Given the description of an element on the screen output the (x, y) to click on. 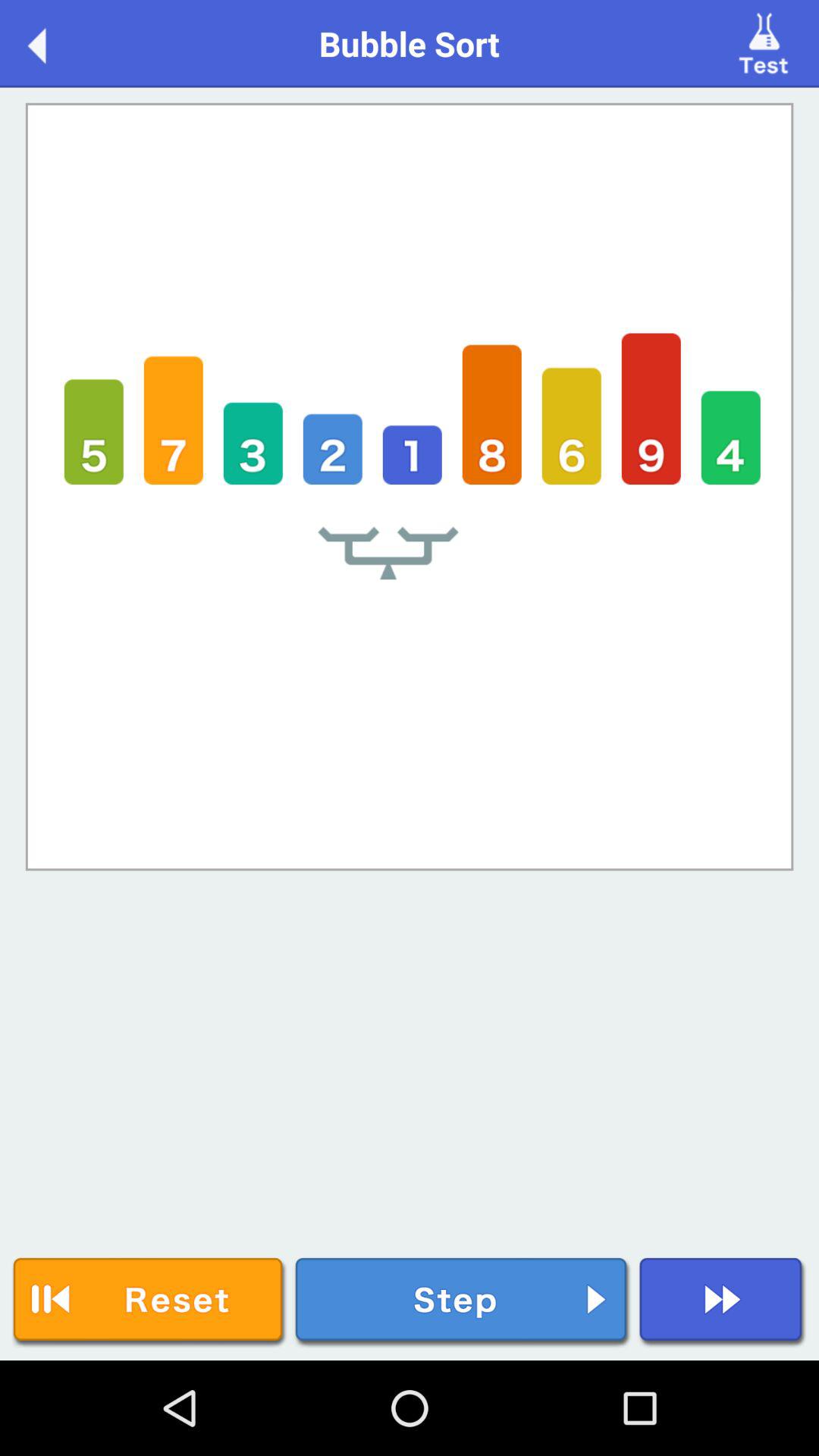
test icon (766, 42)
